Given the description of an element on the screen output the (x, y) to click on. 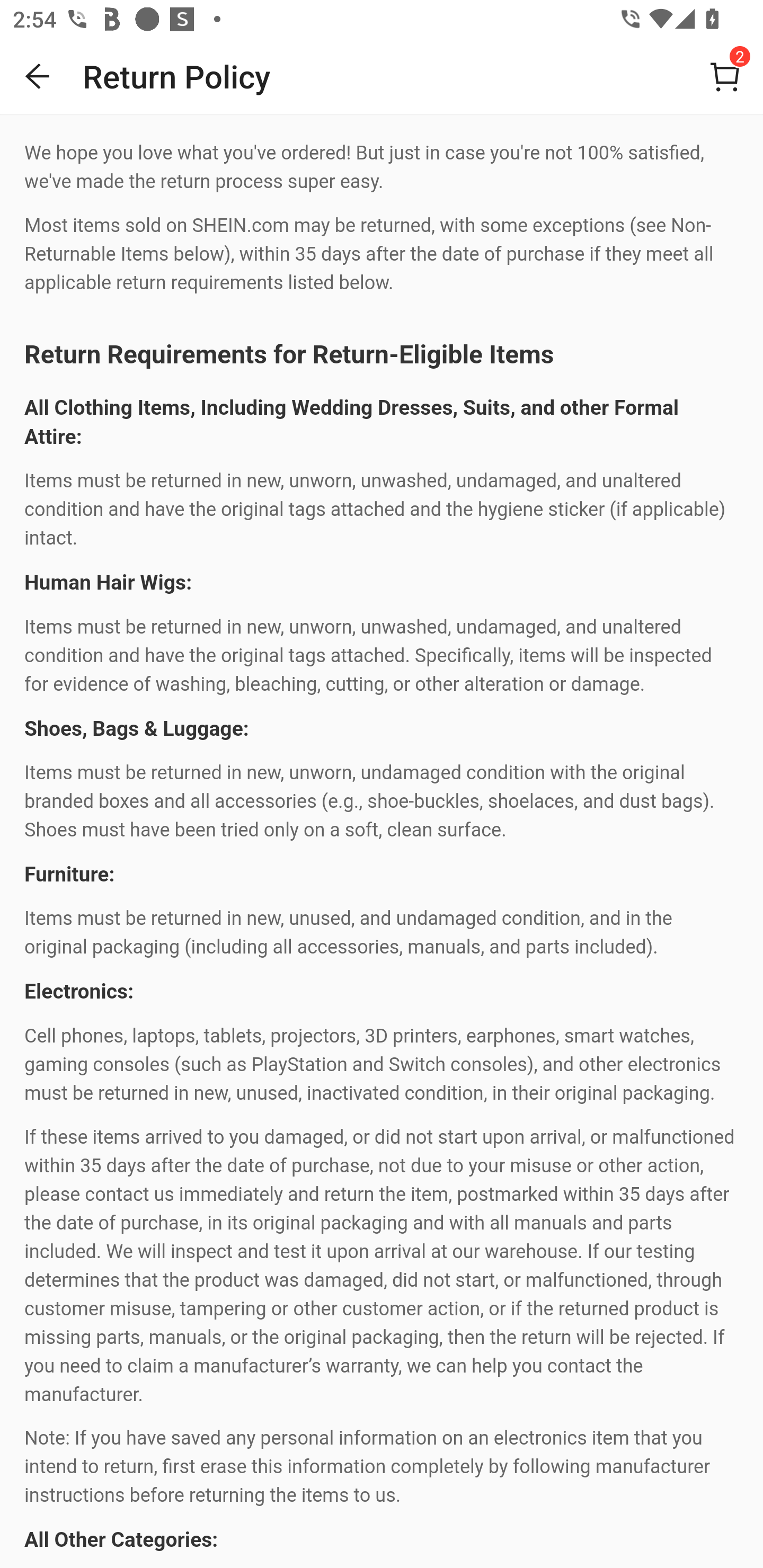
BACK (38, 75)
Cart 2 (724, 75)
